Given the description of an element on the screen output the (x, y) to click on. 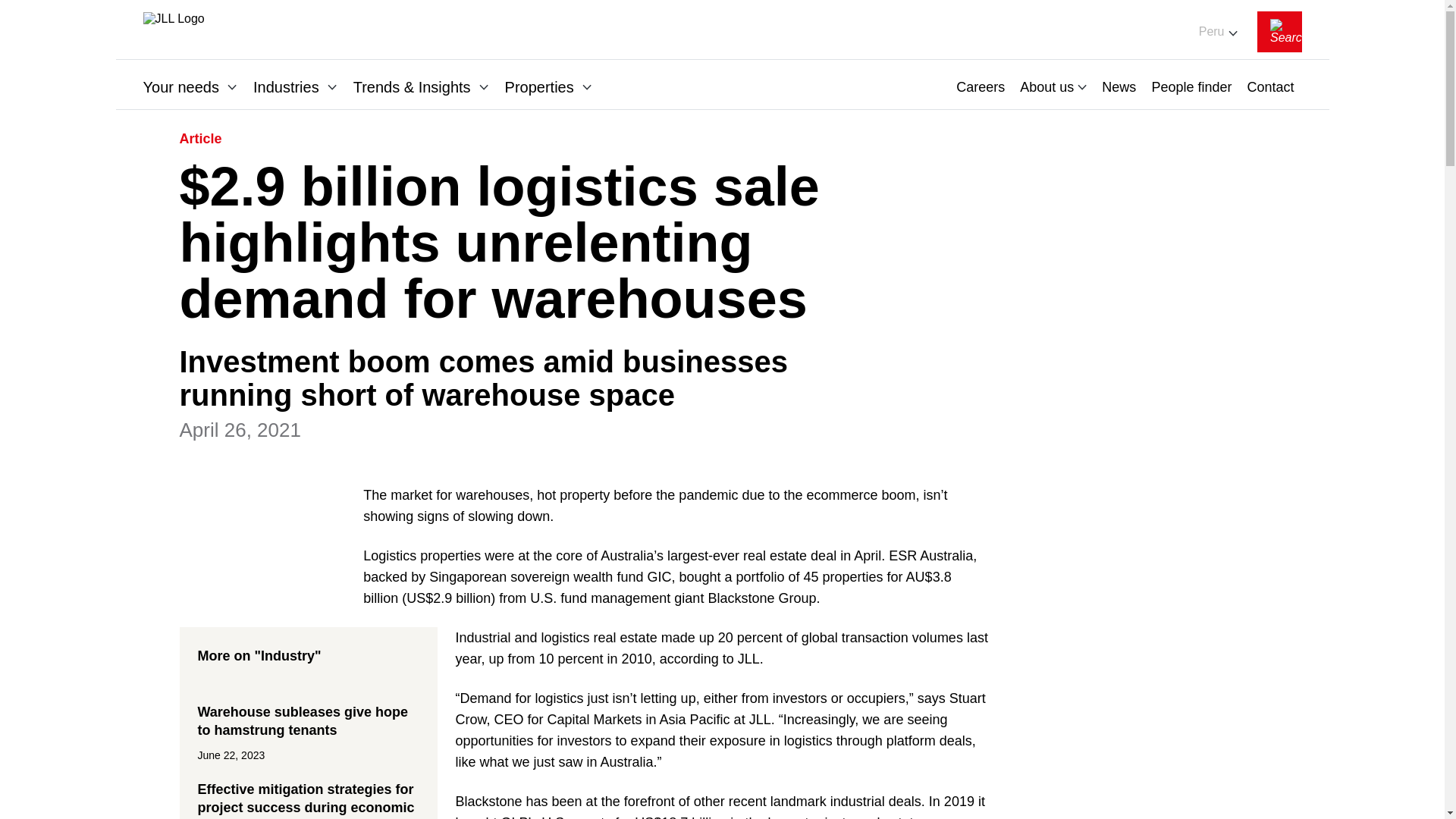
Peru (1206, 31)
